Given the description of an element on the screen output the (x, y) to click on. 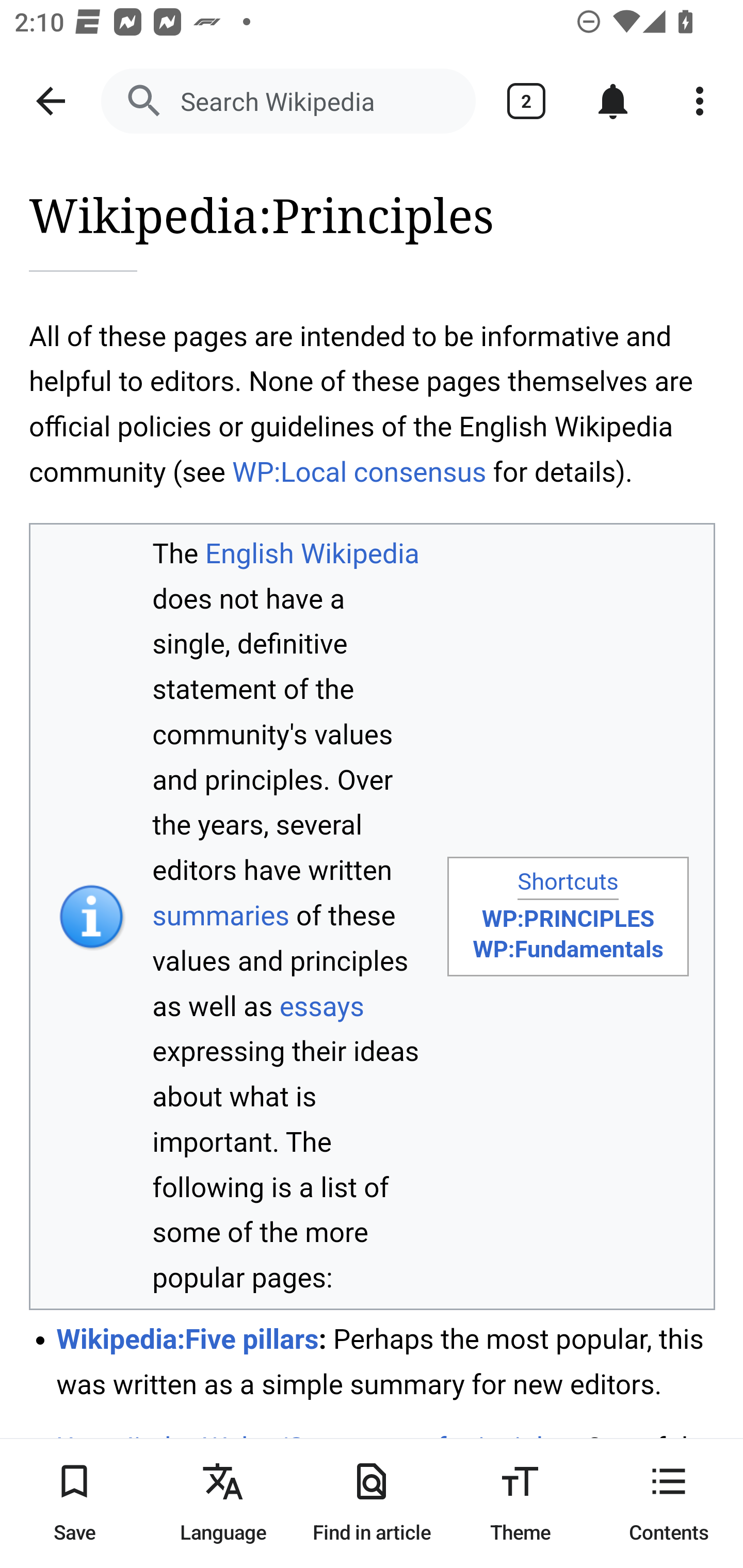
Show tabs 2 (525, 100)
Notifications (612, 100)
Navigate up (50, 101)
More options (699, 101)
Search Wikipedia (288, 100)
WP:Local consensus (359, 471)
English Wikipedia (311, 553)
Shortcuts (567, 882)
summaries (220, 915)
WP:PRINCIPLES (567, 918)
WP:Fundamentals (567, 949)
essays (320, 1006)
Wikipedia:Five pillars (187, 1337)
Save (74, 1502)
Language (222, 1502)
Find in article (371, 1502)
Theme (519, 1502)
Contents (668, 1502)
